Given the description of an element on the screen output the (x, y) to click on. 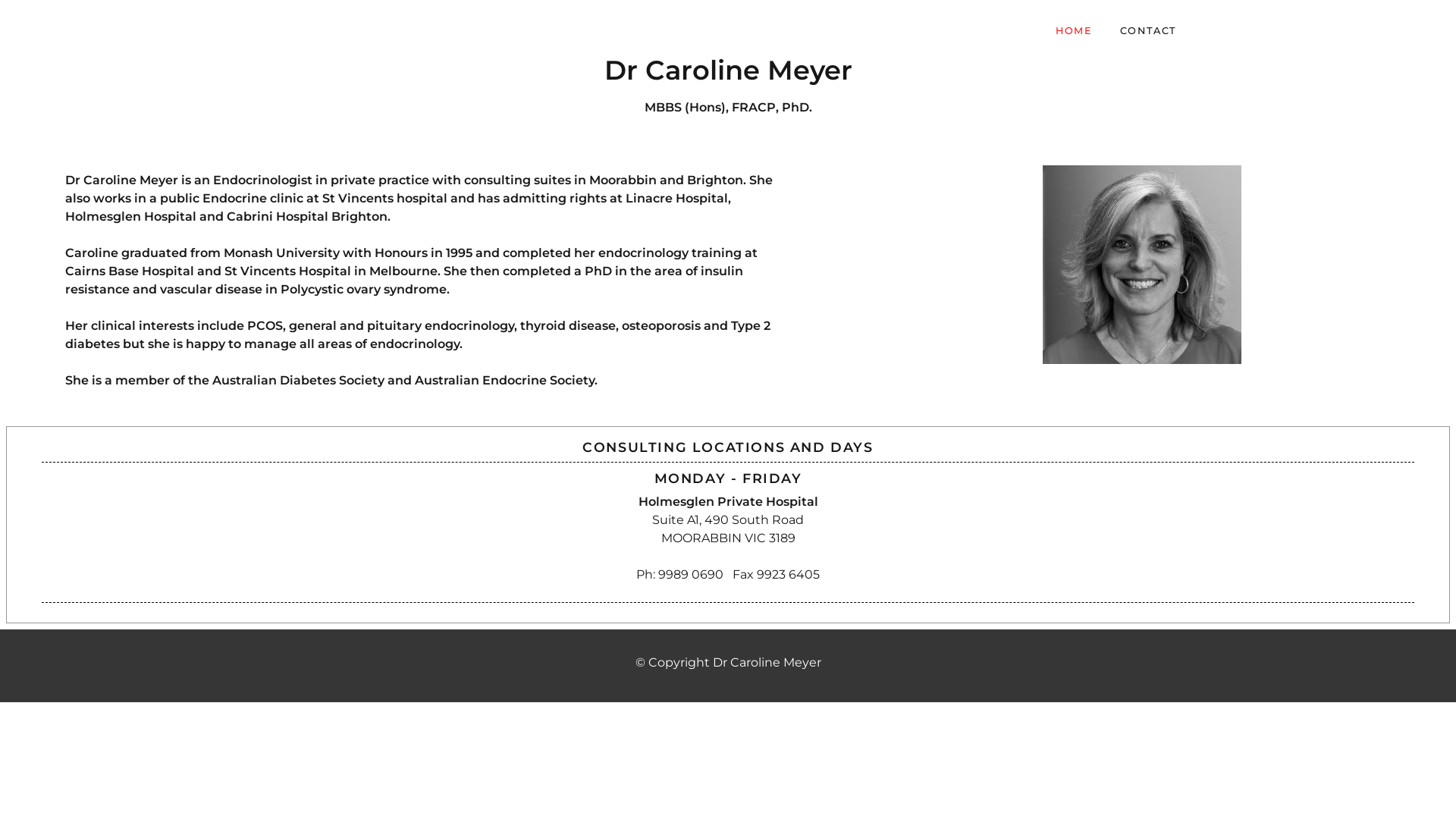
HOME Element type: text (1073, 30)
CONTACT Element type: text (1148, 30)
Dr Caroline Meyer Element type: text (375, 27)
